Given the description of an element on the screen output the (x, y) to click on. 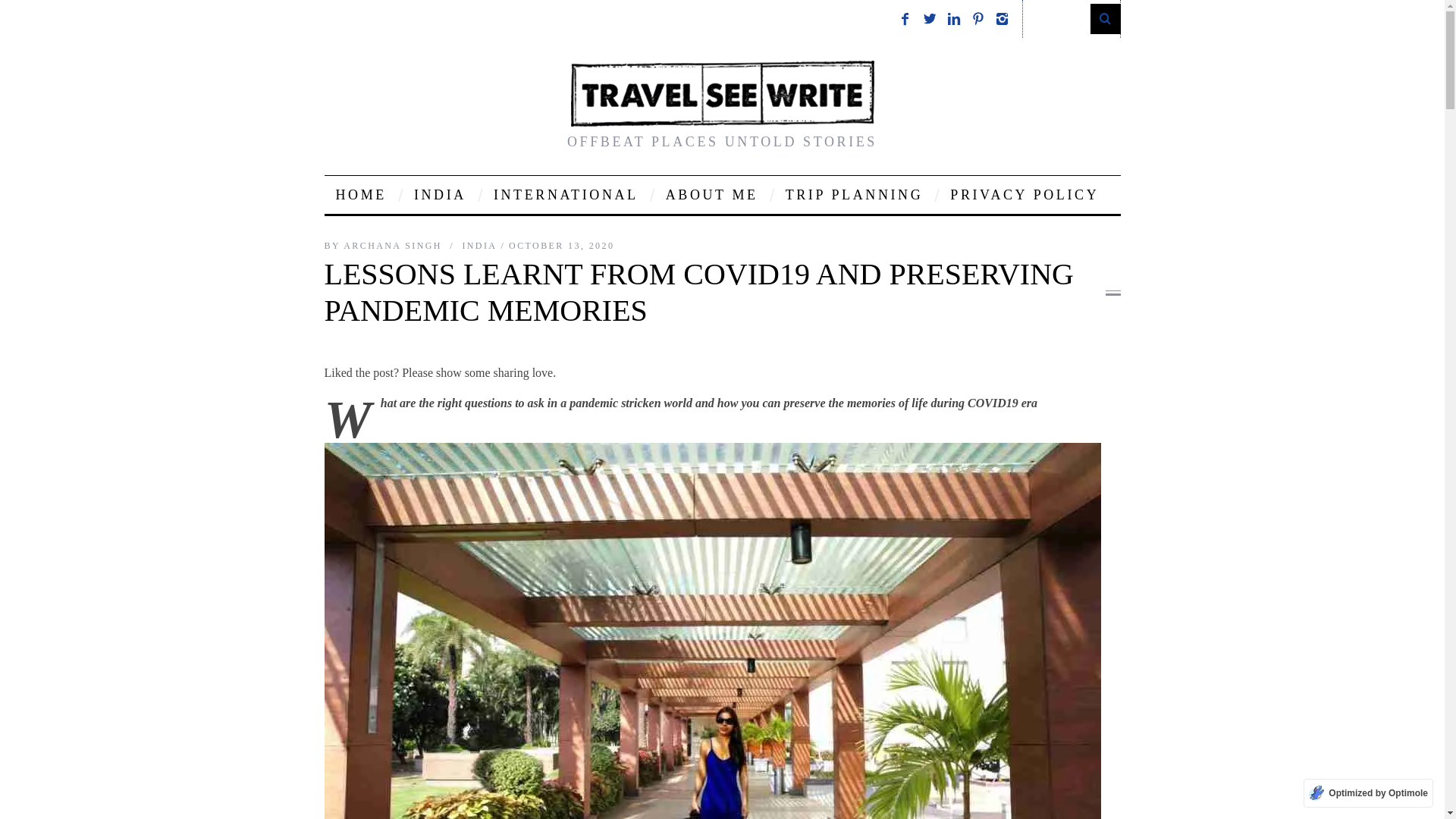
Search (1071, 18)
INTERNATIONAL (565, 194)
INDIA (440, 194)
HOME (360, 194)
